Given the description of an element on the screen output the (x, y) to click on. 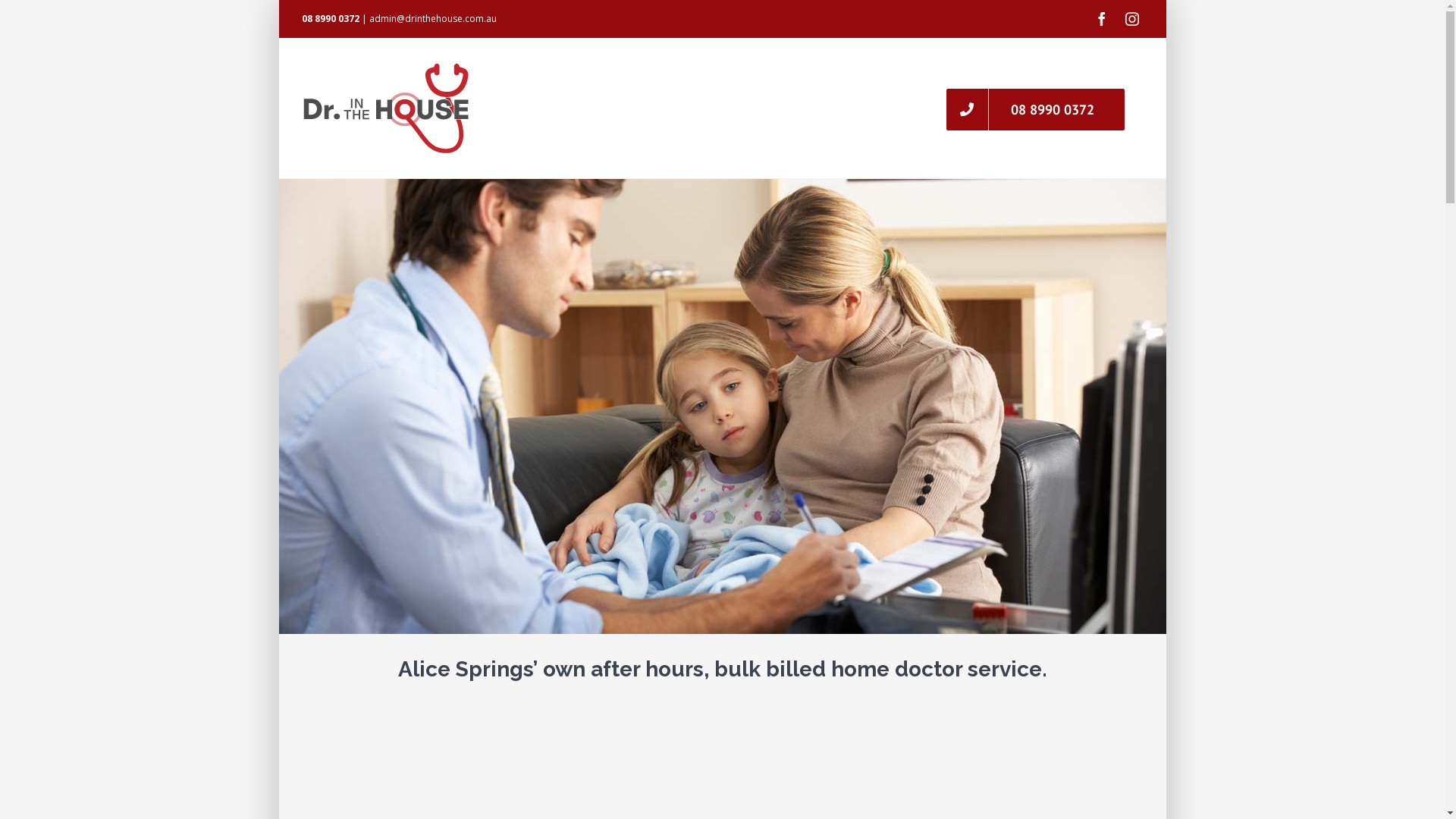
Facebook Element type: text (1101, 18)
08 8990 0372 Element type: text (1035, 108)
Instagram Element type: text (1131, 18)
